Given the description of an element on the screen output the (x, y) to click on. 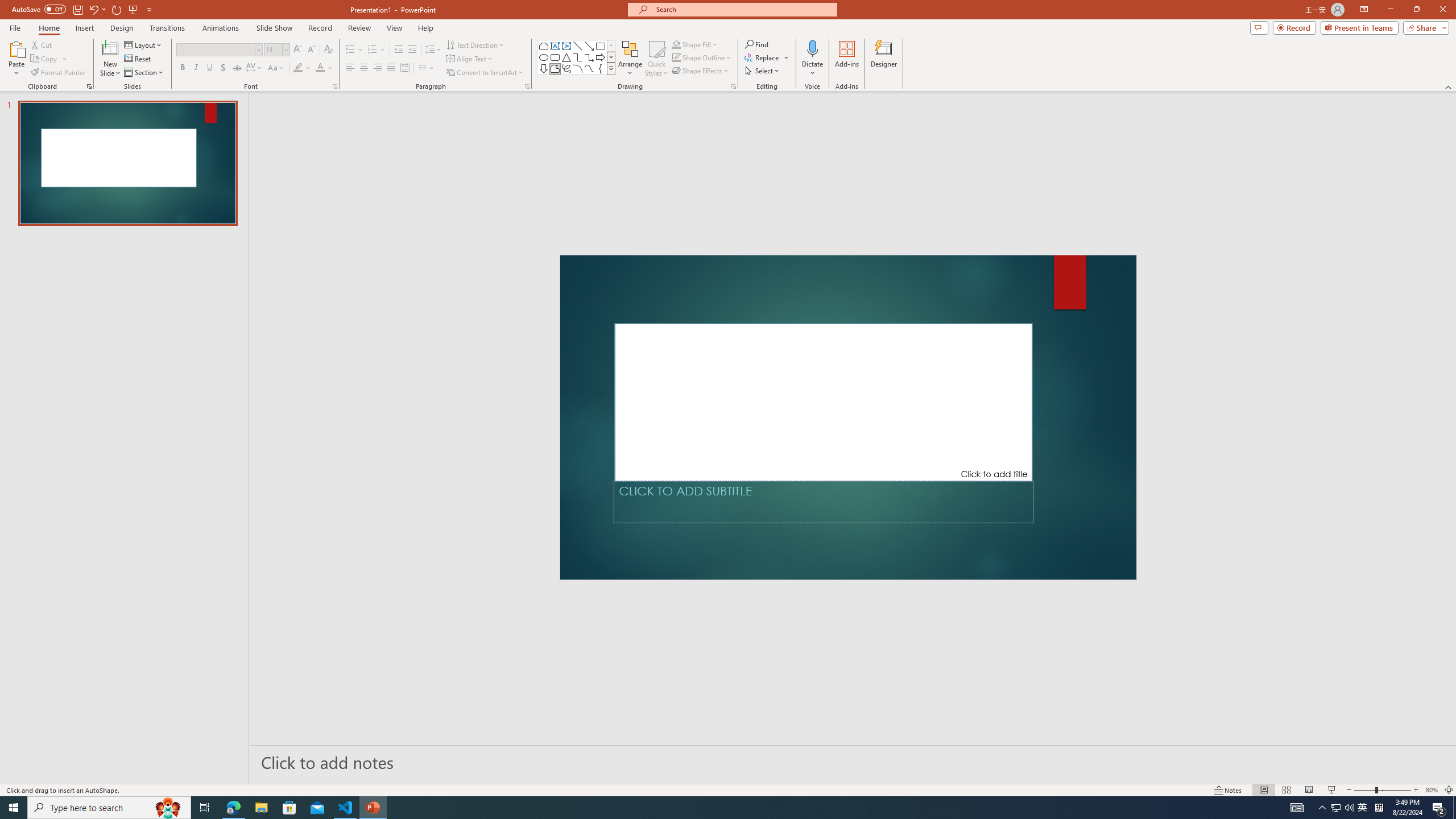
Shape Effects (700, 69)
Slide Notes (852, 761)
